Given the description of an element on the screen output the (x, y) to click on. 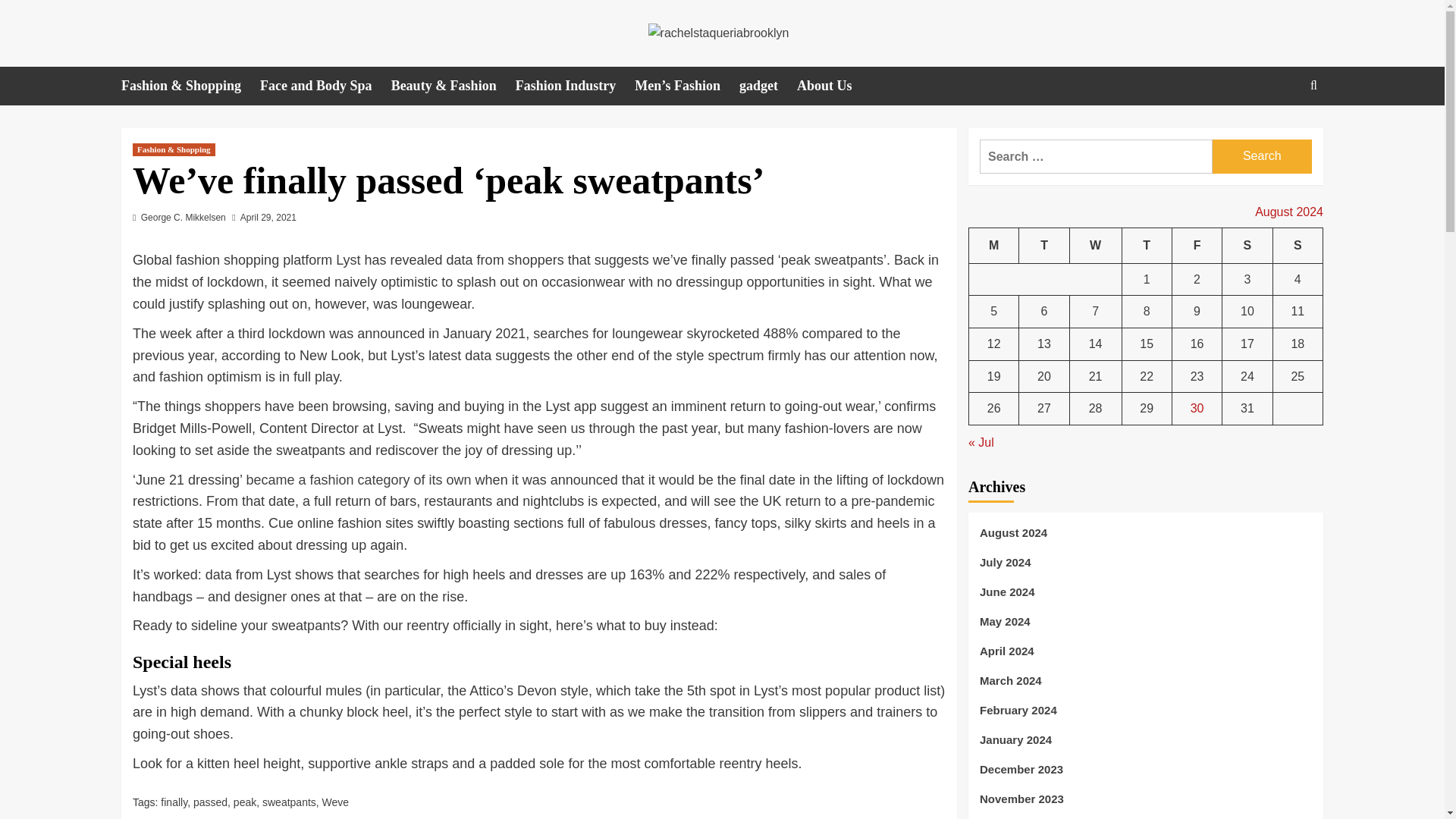
peak (244, 802)
Tuesday (1043, 245)
Monday (994, 245)
Fashion Industry (574, 85)
Lyst (347, 259)
gadget (767, 85)
passed (210, 802)
Search (1261, 156)
Thursday (1146, 245)
Weve (335, 802)
